Given the description of an element on the screen output the (x, y) to click on. 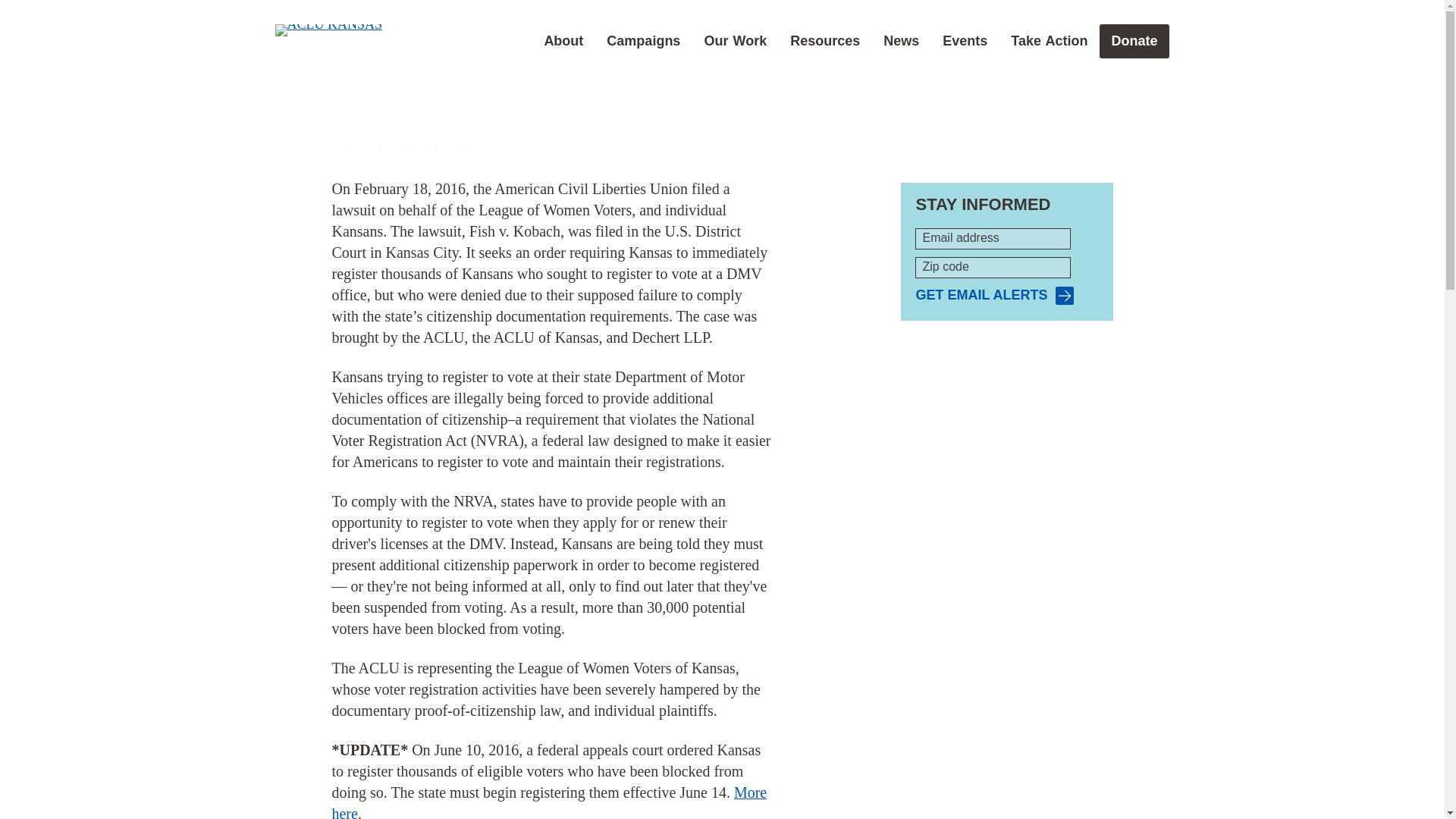
Email address (992, 238)
Submit this to Facebook (340, 140)
ACLU of Kansas - logo (328, 30)
Zip code (992, 267)
Take Action (1048, 41)
Get email alerts (994, 295)
Submit this to Twitter (369, 140)
Submit this to Reddit (398, 140)
Events (964, 41)
